Given the description of an element on the screen output the (x, y) to click on. 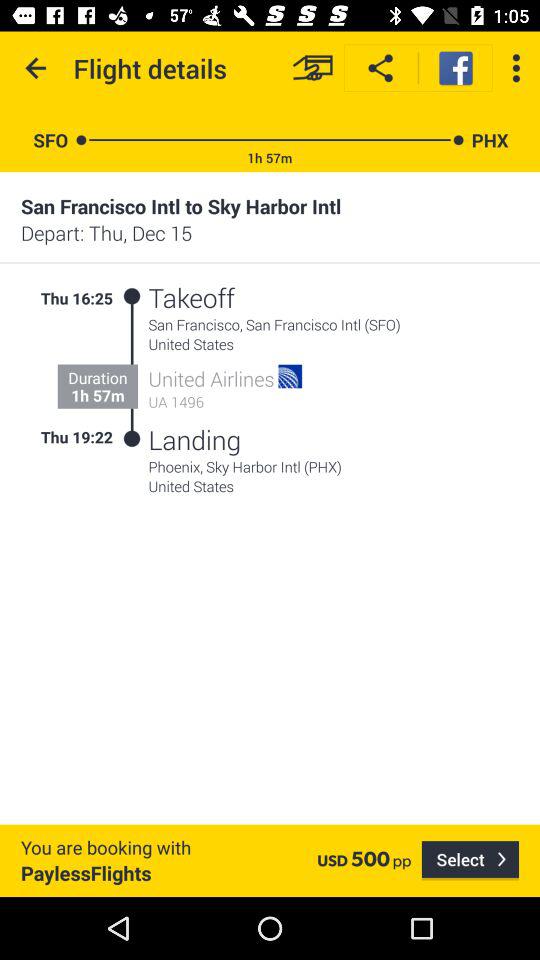
press the item below the united airlines item (226, 401)
